Given the description of an element on the screen output the (x, y) to click on. 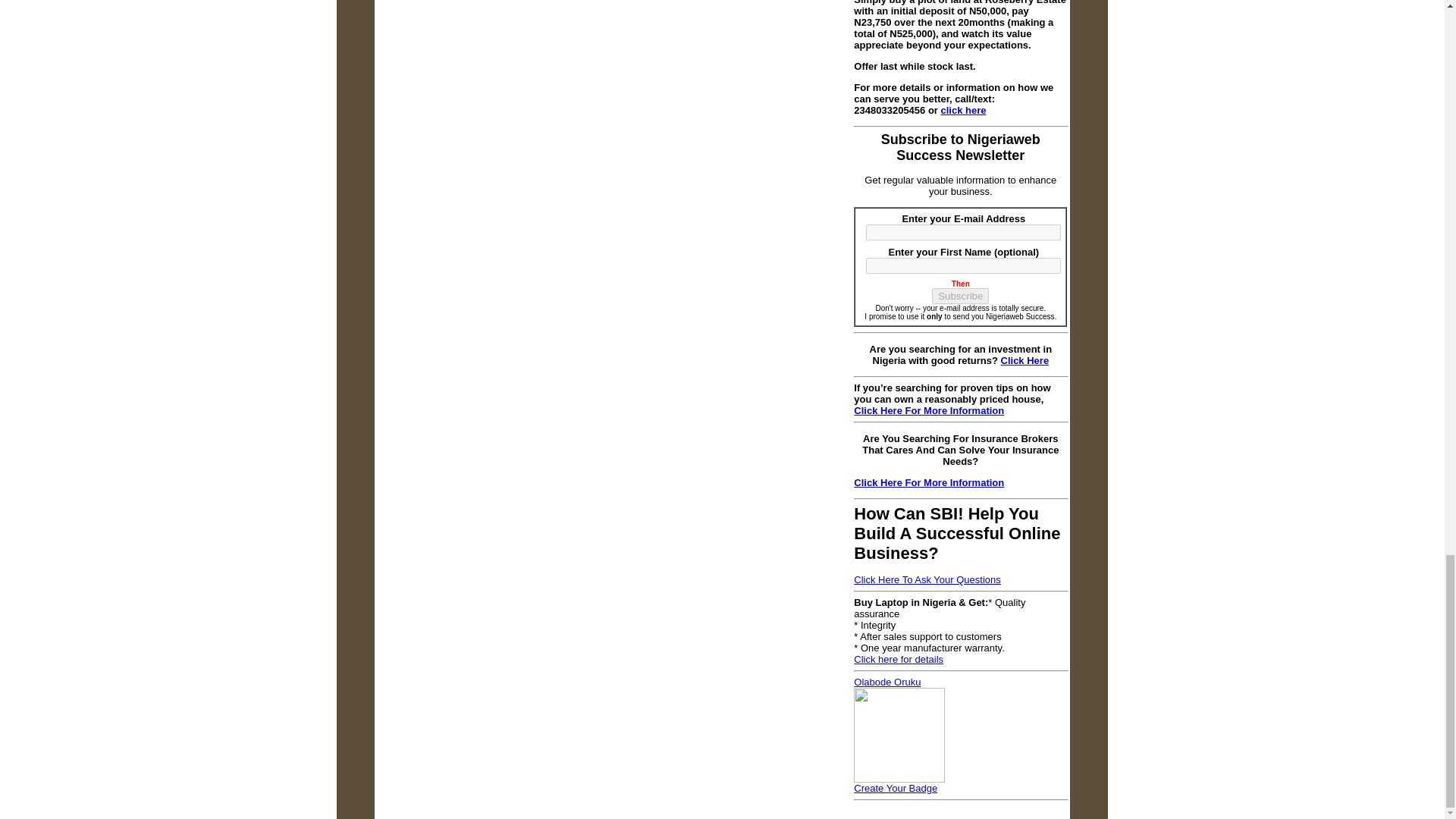
Olabode Oruku (898, 778)
A click will opens new window (926, 579)
Click Here For More Information (928, 481)
Click Here (1025, 360)
Olabode Oruku (886, 681)
Subscribe (959, 295)
Make your own badge! (895, 787)
Click Here To Ask Your Questions (926, 579)
click here (963, 110)
A click will open new window (1025, 360)
